Given the description of an element on the screen output the (x, y) to click on. 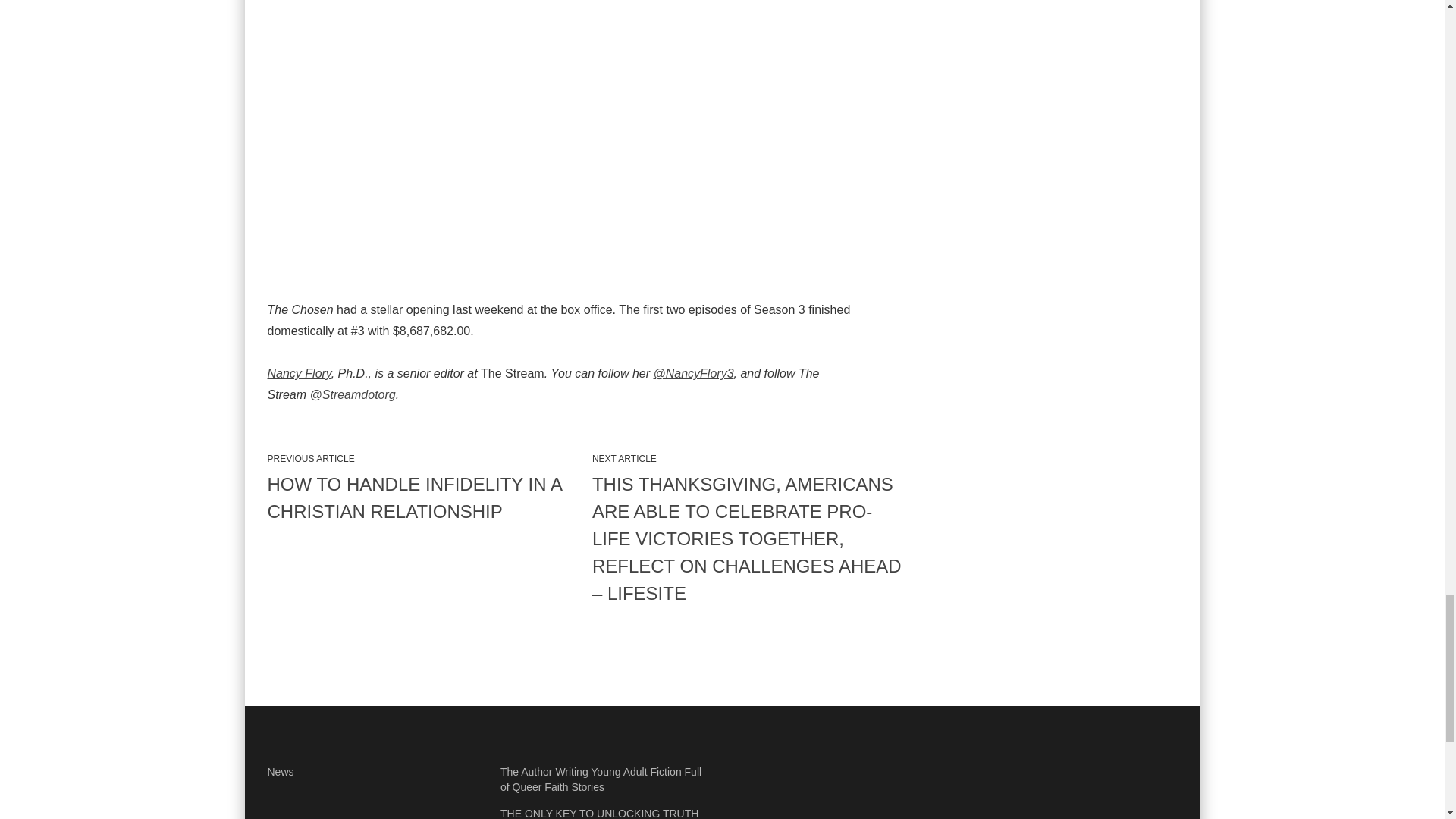
Nancy Flory (298, 373)
HOW TO HANDLE INFIDELITY IN A CHRISTIAN RELATIONSHIP (422, 497)
